Given the description of an element on the screen output the (x, y) to click on. 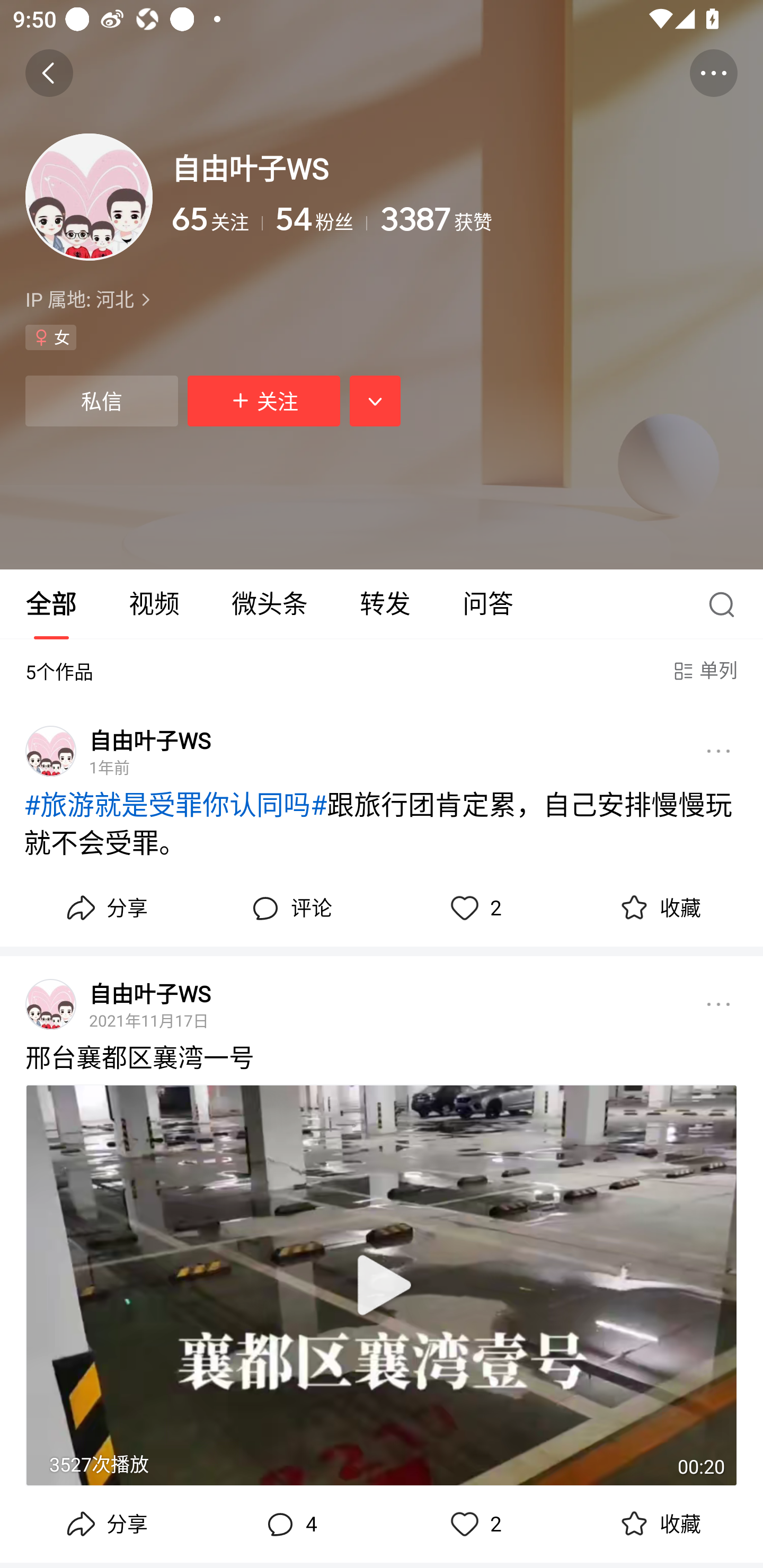
返回 (49, 72)
更多操作 (713, 72)
头像 (88, 196)
65 关注 (216, 219)
54 粉丝 (321, 219)
3387 获赞 (558, 219)
IP 属地: 河北 (381, 298)
性别女 女 (50, 336)
私信 (101, 401)
     关注 (263, 401)
展开相关推荐，按钮 (374, 401)
全部 (51, 604)
视频 (154, 604)
微头条 (269, 604)
转发 (385, 604)
问答 (487, 604)
搜索 (726, 604)
单列 当前单列点按切换至双列 (703, 670)
自由叶子WS (149, 739)
头像 (50, 750)
更多 (718, 750)
分享 (104, 908)
评论, 评论 (288, 908)
,收藏 收藏 (658, 908)
自由叶子WS (149, 993)
头像 (50, 1004)
更多 (718, 1003)
分享 (104, 1523)
评论,4 4 (288, 1523)
,收藏 收藏 (658, 1523)
